Given the description of an element on the screen output the (x, y) to click on. 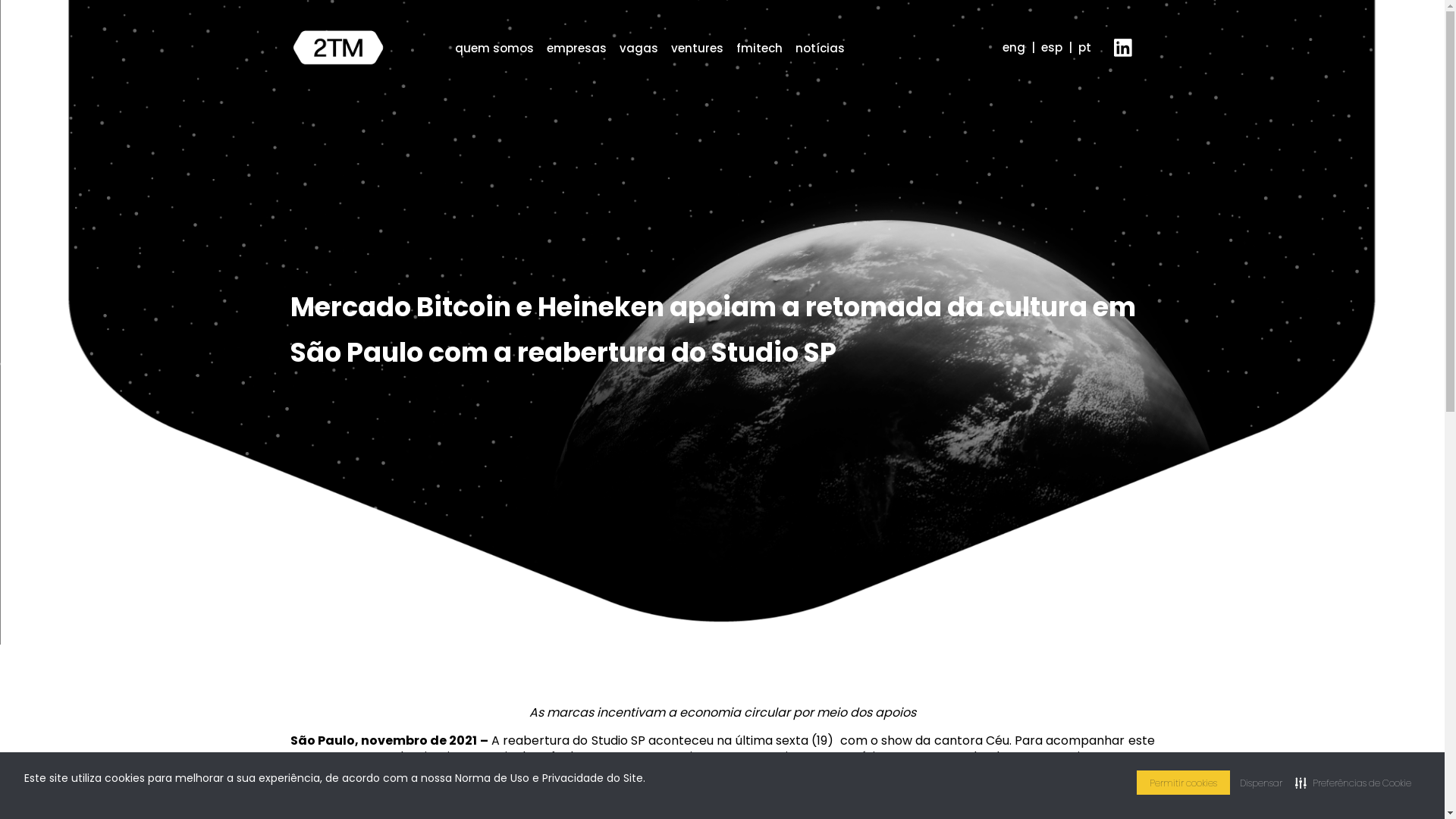
eng Element type: text (1013, 47)
esp Element type: text (1050, 47)
pt Element type: text (1084, 47)
quem somos Element type: text (494, 48)
Dispensar Element type: text (1261, 782)
fmitech Element type: text (758, 48)
Permitir cookies Element type: text (1183, 782)
ventures Element type: text (696, 48)
vagas Element type: text (637, 48)
empresas Element type: text (575, 48)
